Given the description of an element on the screen output the (x, y) to click on. 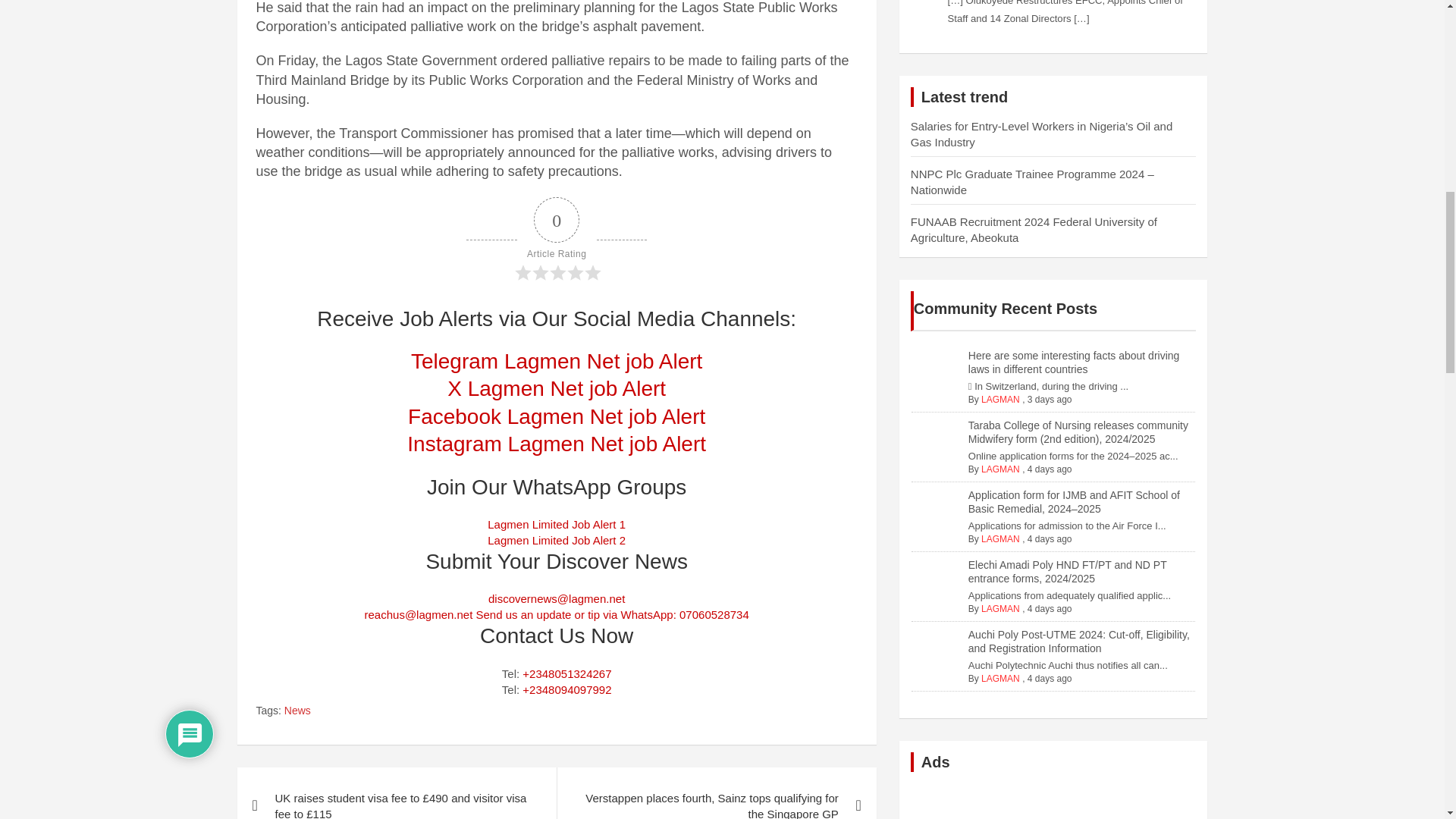
LAGMAN (1000, 469)
Telegram Lagmen Net job Alert (555, 361)
LAGMAN (1000, 678)
LAGMAN (1000, 538)
LAGMAN (1000, 398)
LAGMAN (1000, 608)
